Given the description of an element on the screen output the (x, y) to click on. 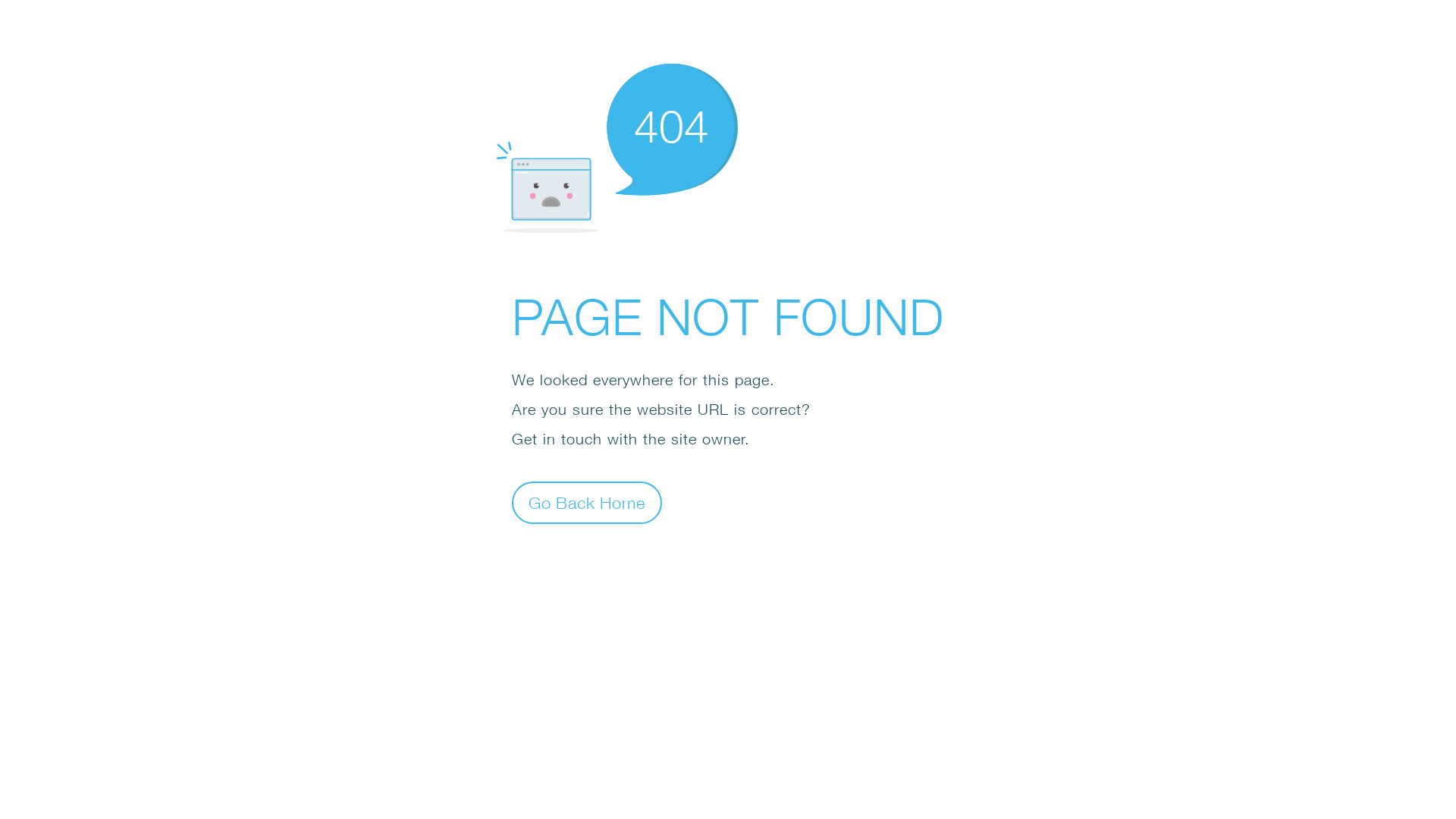
Go Back Home Element type: text (586, 502)
